Given the description of an element on the screen output the (x, y) to click on. 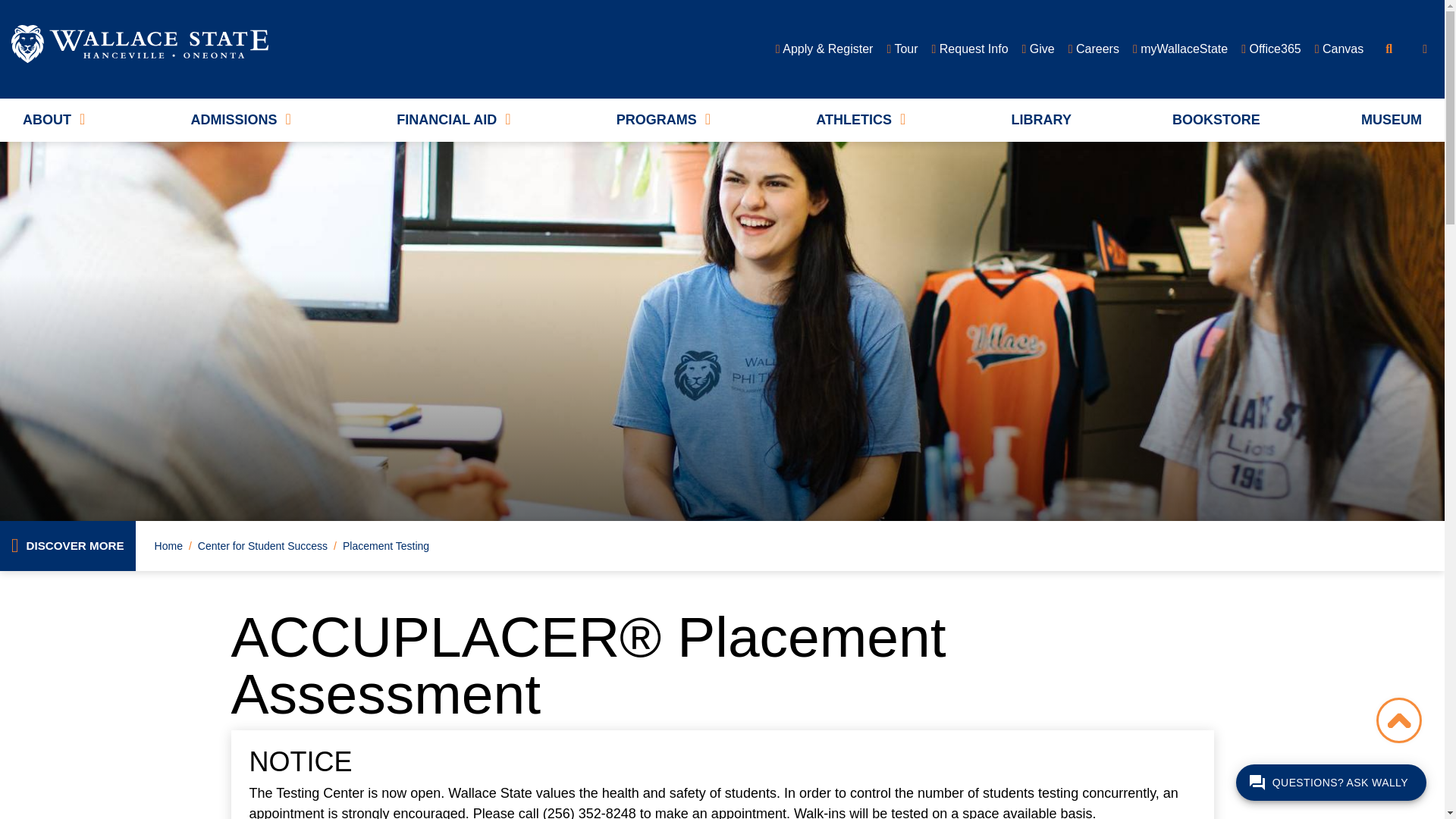
office365 (1270, 49)
Canvas (1339, 49)
QUESTIONS? ASK WALLY (1331, 782)
Give (1037, 49)
myWallaceState (1179, 49)
Careers (1093, 49)
Tour Campus (901, 49)
Request Info (969, 49)
